Given the description of an element on the screen output the (x, y) to click on. 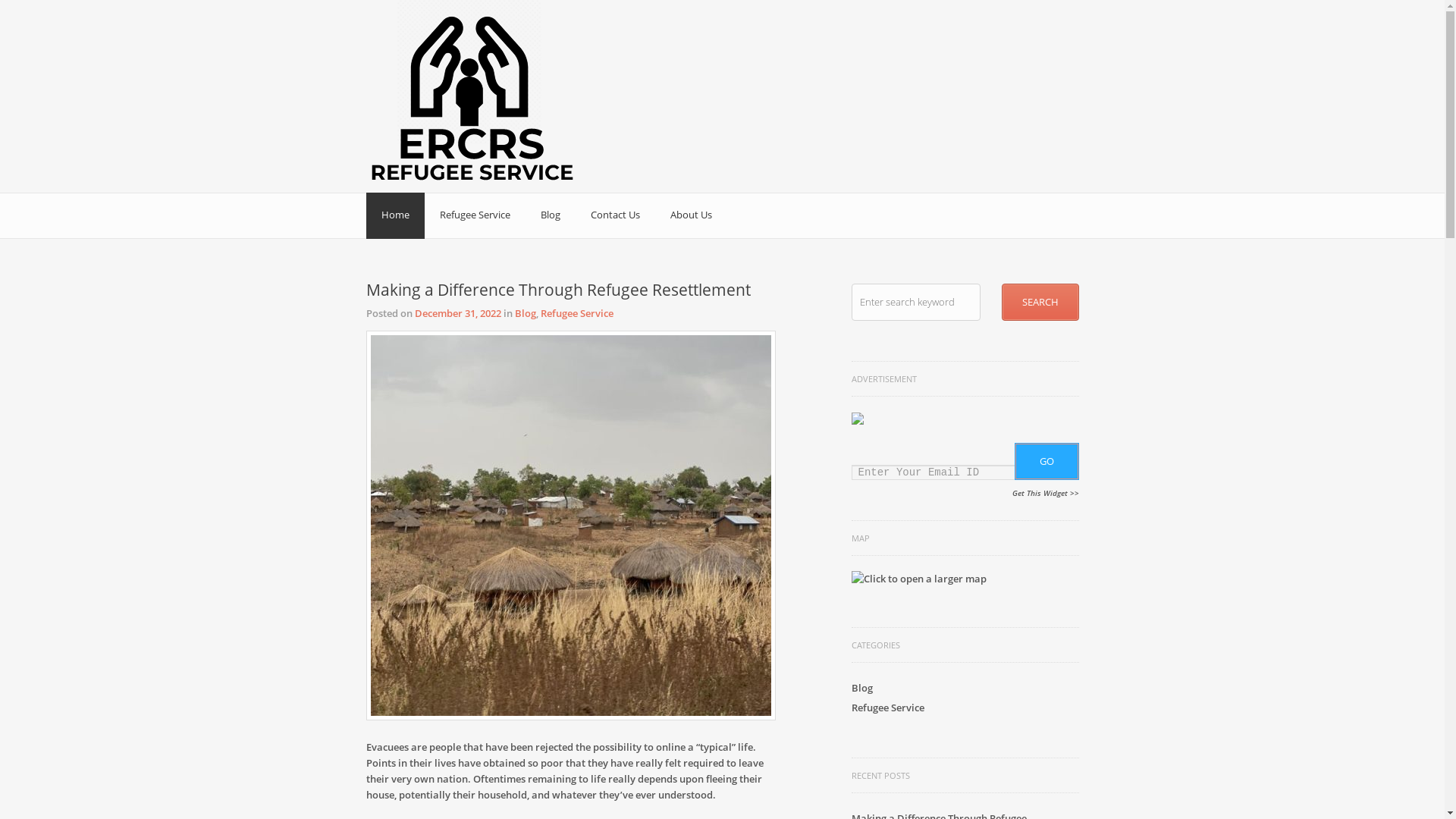
Get This Widget >> Element type: text (1044, 492)
GO Element type: text (1046, 461)
Blog Element type: text (549, 215)
Click to open a larger map Element type: hover (917, 578)
Refugee Service Element type: text (886, 707)
Refugee Service Element type: text (474, 215)
Refugee Service Element type: text (575, 313)
Home Element type: text (394, 215)
Search Element type: text (1039, 301)
ERCRS Element type: text (395, 37)
Contact Us Element type: text (614, 215)
Blog Element type: text (524, 313)
December 31, 2022 Element type: text (457, 313)
Making a Difference Through Refugee Resettlement Element type: text (557, 289)
About Us Element type: text (691, 215)
Blog Element type: text (861, 687)
